Given the description of an element on the screen output the (x, y) to click on. 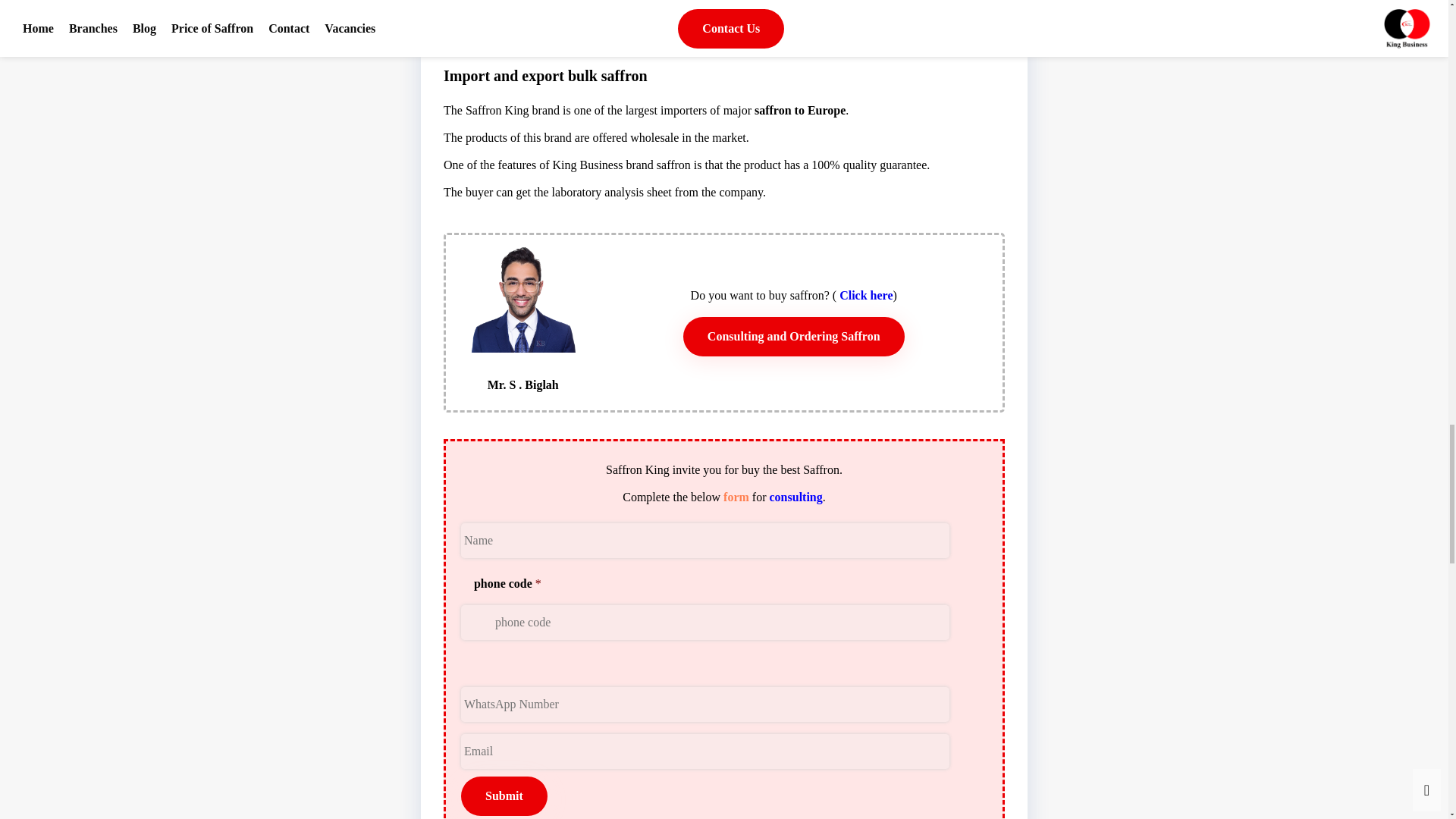
form (736, 496)
Submit (504, 795)
Consulting and Ordering Saffron (793, 336)
consulting (796, 496)
Submit (504, 795)
saffron to Europe (799, 110)
Click here (866, 294)
